Given the description of an element on the screen output the (x, y) to click on. 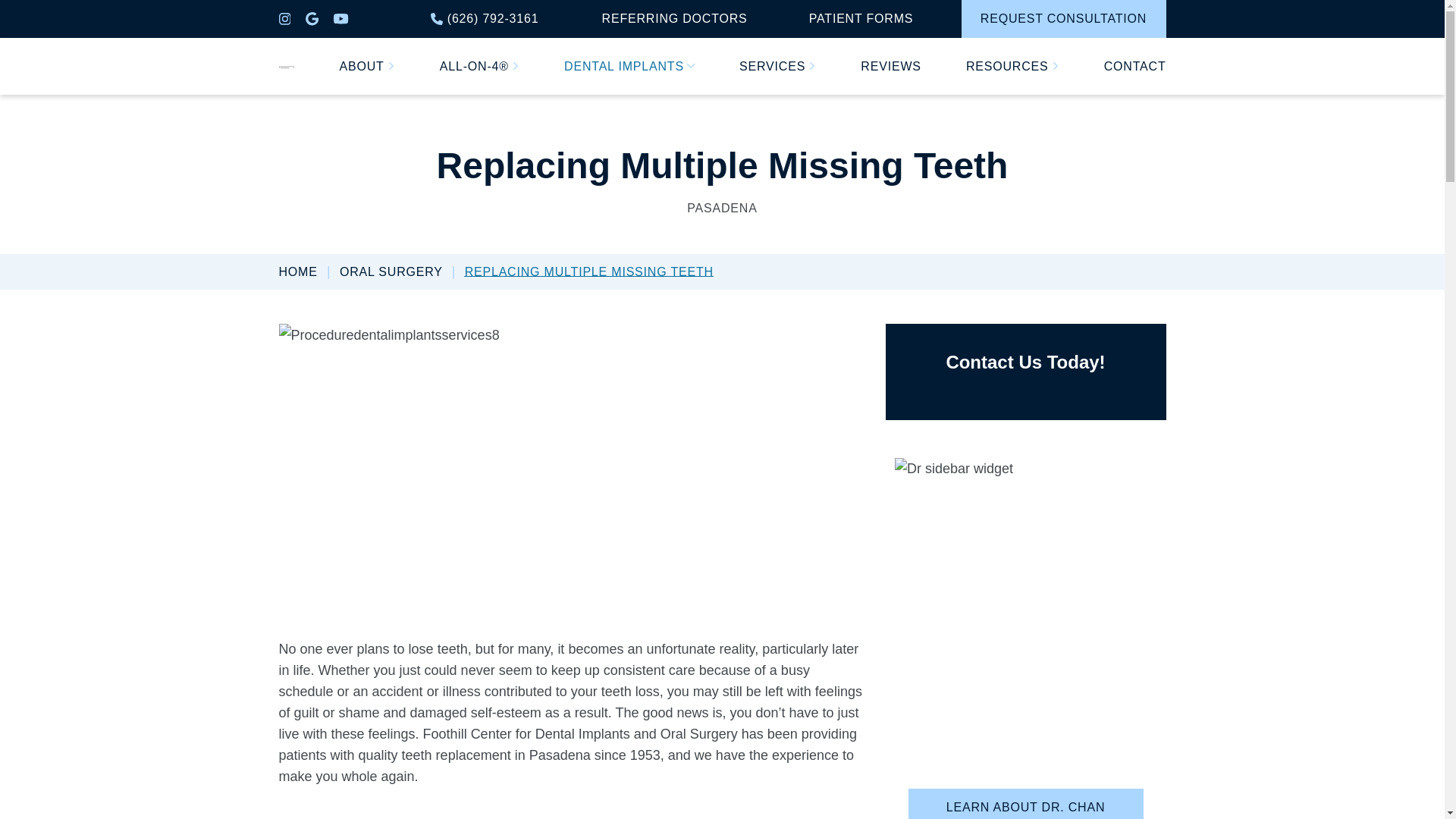
google (311, 18)
REFERRING DOCTORS (675, 18)
PATIENT FORMS (861, 18)
ABOUT (366, 66)
instagram (285, 19)
REQUEST CONSULTATION (1063, 18)
DENTAL IMPLANTS (629, 66)
youtube (340, 18)
